Given the description of an element on the screen output the (x, y) to click on. 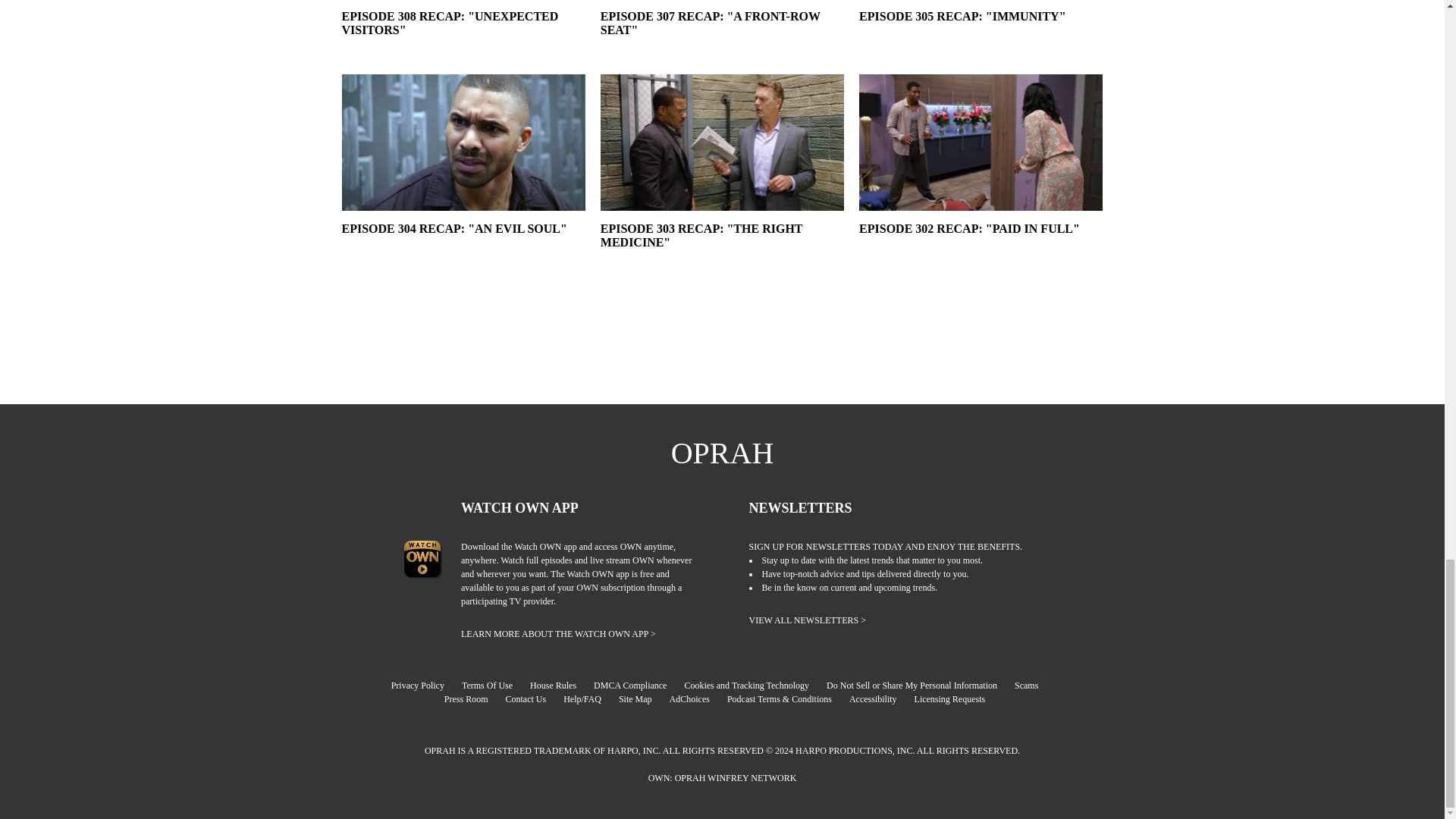
Do Not Sell or Share My Personal Information (919, 685)
EPISODE 303 RECAP: "THE RIGHT MEDICINE" (721, 248)
EPISODE 305 RECAP: "IMMUNITY" (980, 37)
OPRAH (722, 453)
DMCA Compliance (637, 685)
Terms Of Use (494, 685)
House Rules (560, 685)
Privacy Policy (425, 685)
EPISODE 304 RECAP: "AN EVIL SOUL" (462, 248)
EPISODE 307 RECAP: "A FRONT-ROW SEAT" (721, 37)
EPISODE 302 RECAP: "PAID IN FULL" (980, 248)
Cookies and Tracking Technology (754, 685)
EPISODE 308 RECAP: "UNEXPECTED VISITORS" (462, 37)
